Given the description of an element on the screen output the (x, y) to click on. 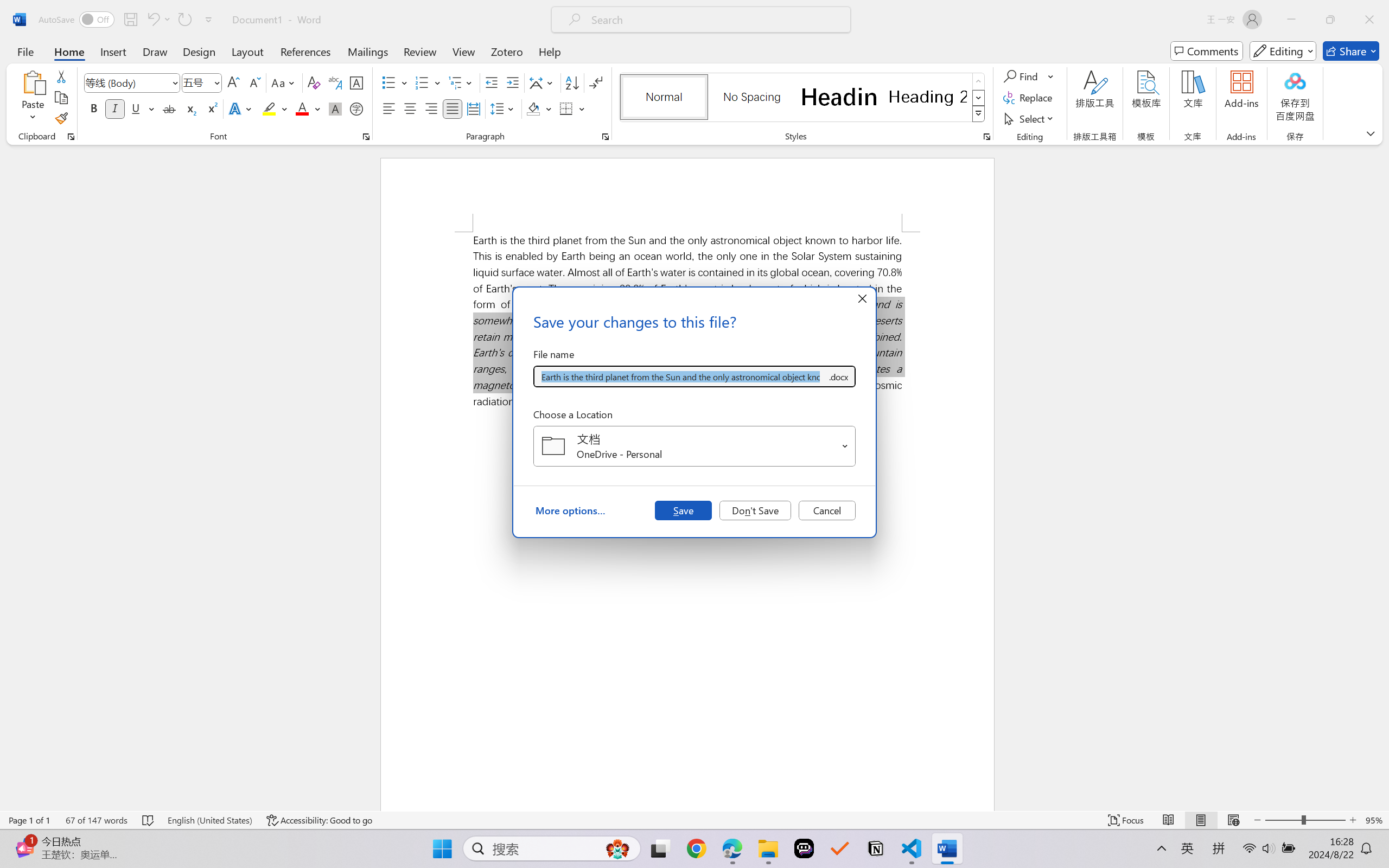
Don't Save (755, 509)
Strikethrough (169, 108)
Shading RGB(0, 0, 0) (533, 108)
Office Clipboard... (70, 136)
